Given the description of an element on the screen output the (x, y) to click on. 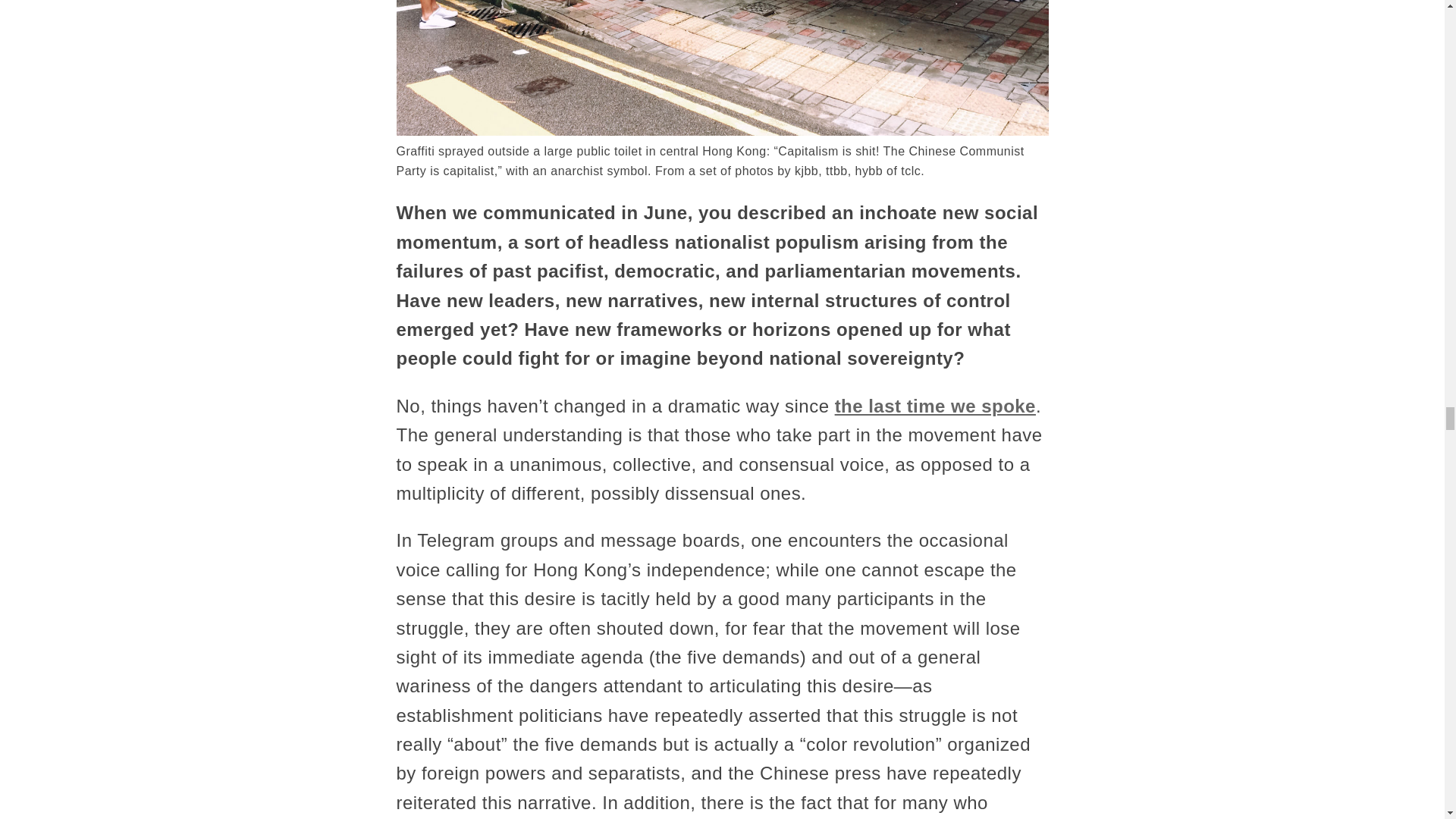
the last time we spoke (934, 405)
